Given the description of an element on the screen output the (x, y) to click on. 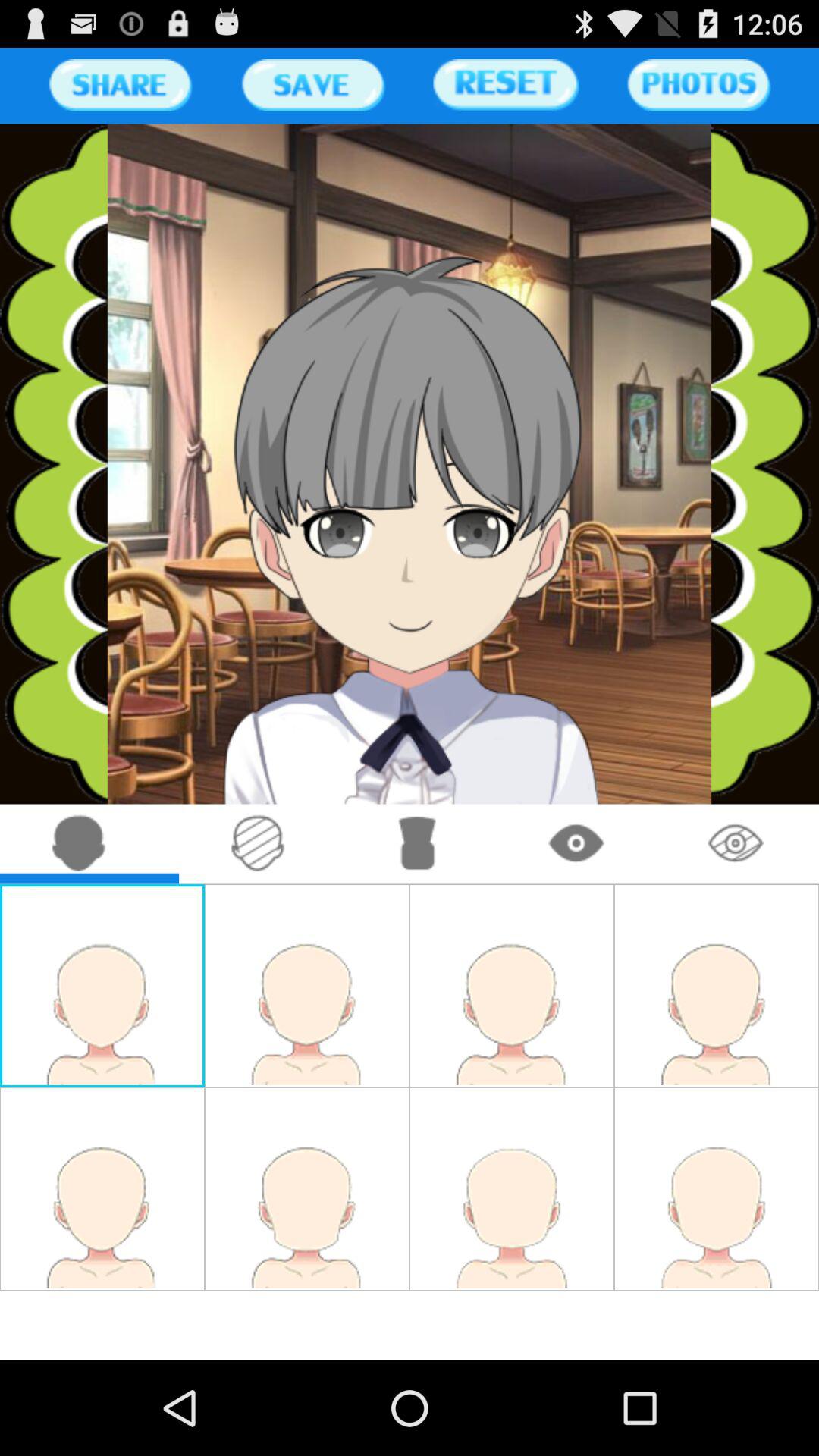
modify eyes (577, 843)
